Given the description of an element on the screen output the (x, y) to click on. 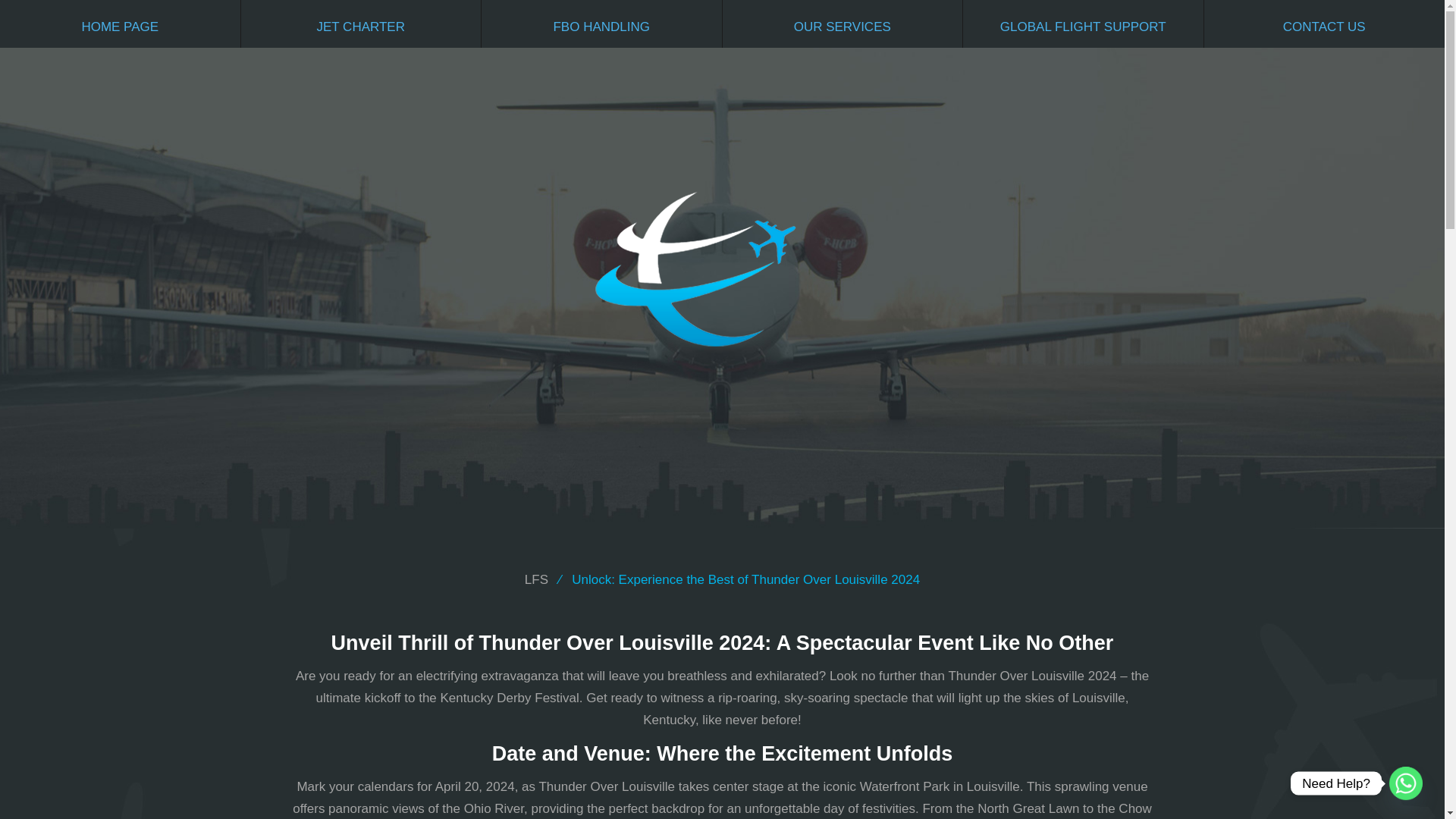
FBO HANDLING (601, 23)
OUR SERVICES (842, 23)
We Serve We Save (721, 267)
HOME PAGE (120, 23)
Go to LFS. (536, 579)
GLOBAL FLIGHT SUPPORT (1083, 23)
LFS (536, 579)
Need Help? (1405, 783)
JET CHARTER (361, 23)
